Given the description of an element on the screen output the (x, y) to click on. 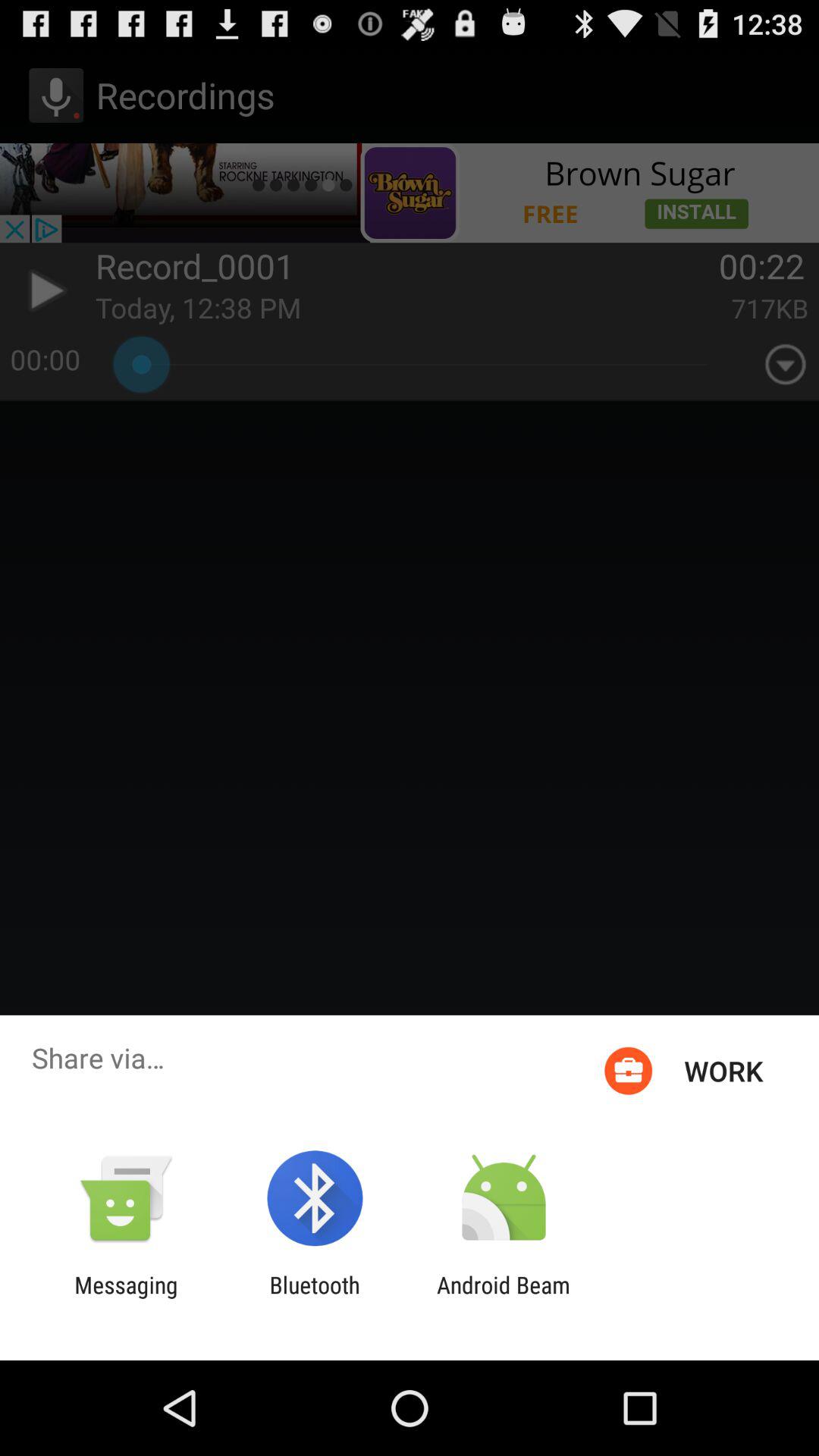
open the item to the right of the bluetooth icon (503, 1298)
